Given the description of an element on the screen output the (x, y) to click on. 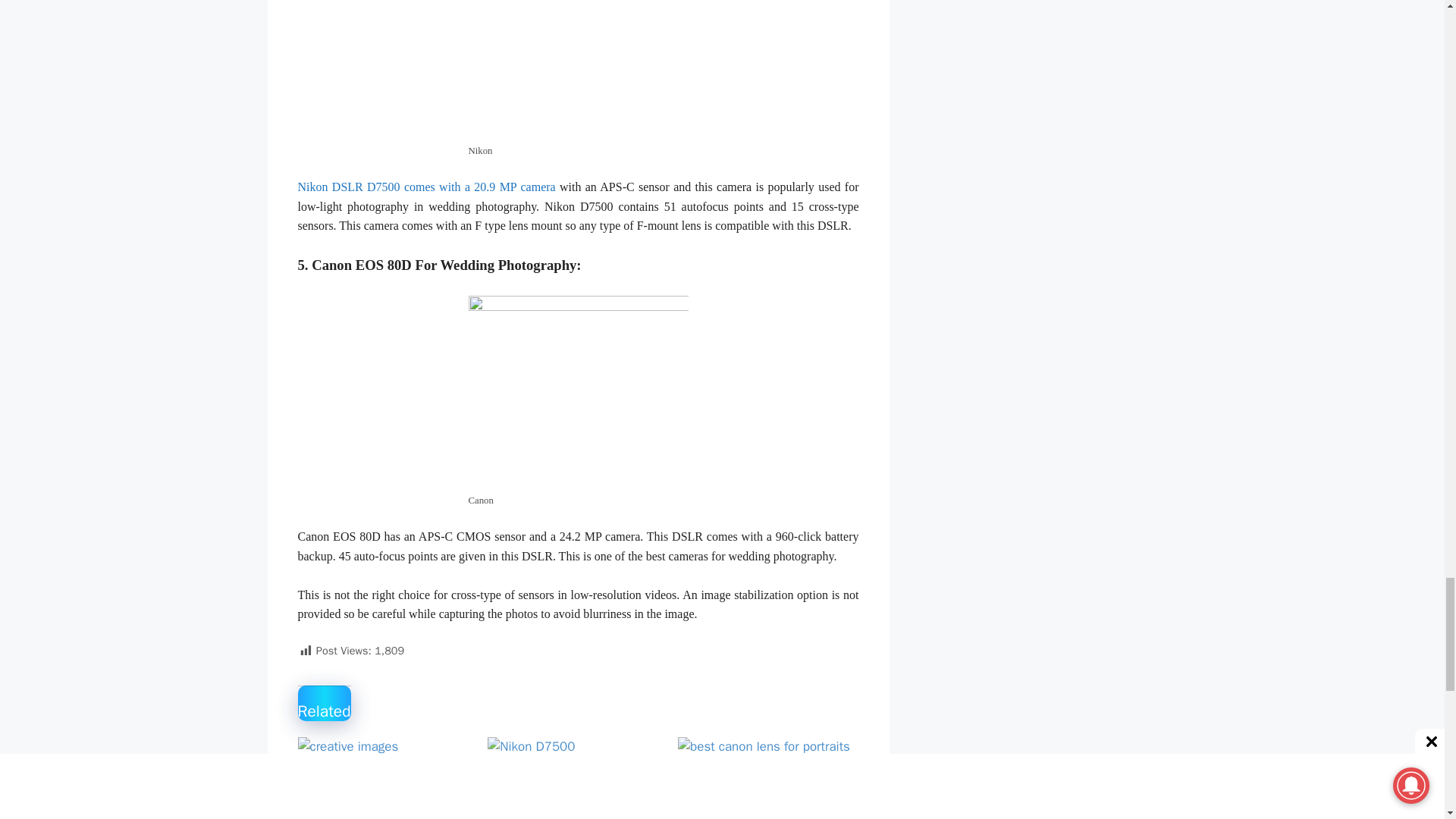
Nikon DSLR D7500 comes with a 20.9 MP camera (425, 186)
